Given the description of an element on the screen output the (x, y) to click on. 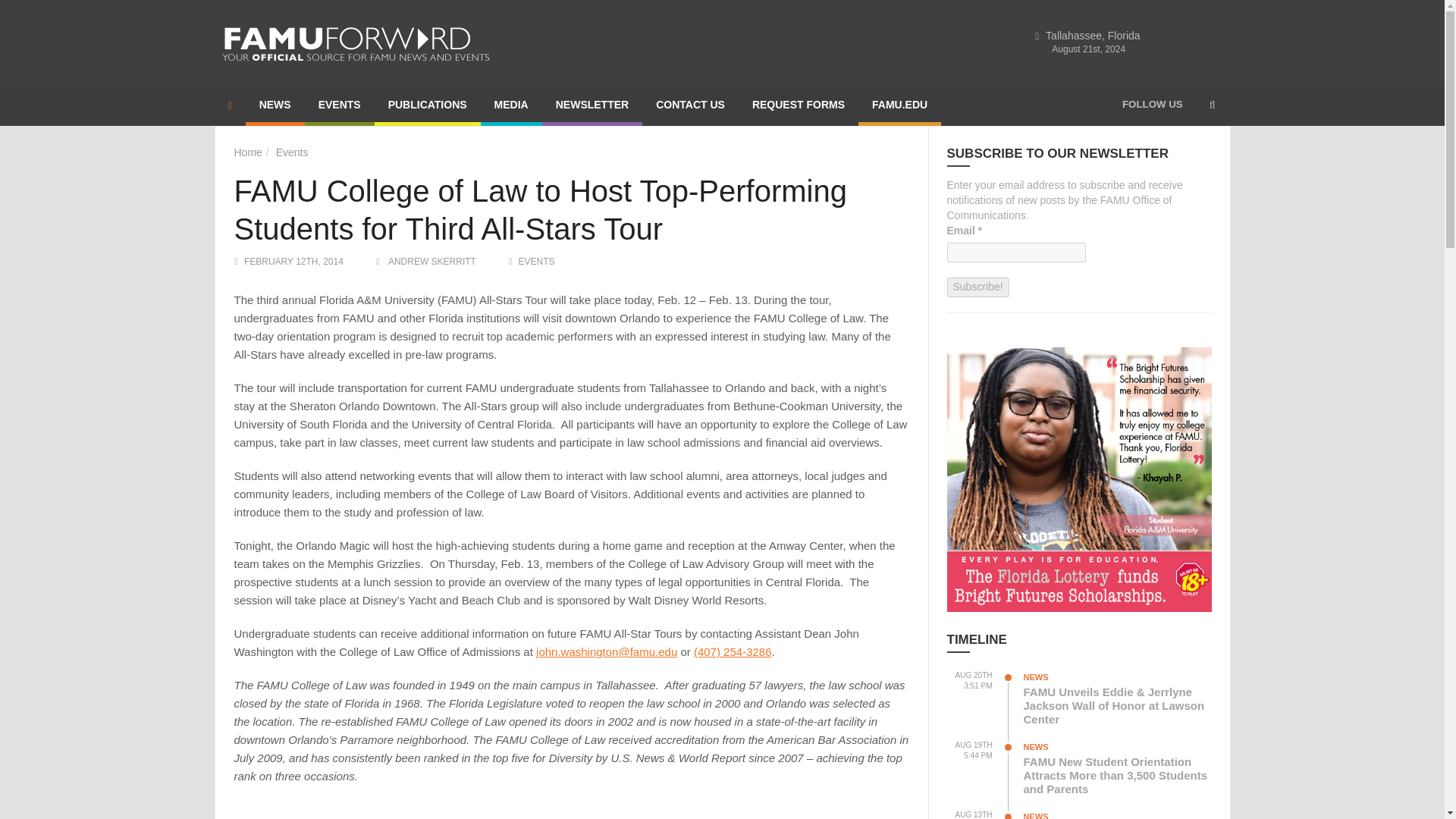
NEWS (275, 106)
Request Form (798, 106)
View all posts in Events (536, 261)
Email (1015, 252)
Events (292, 152)
Subscribe! (977, 287)
